Given the description of an element on the screen output the (x, y) to click on. 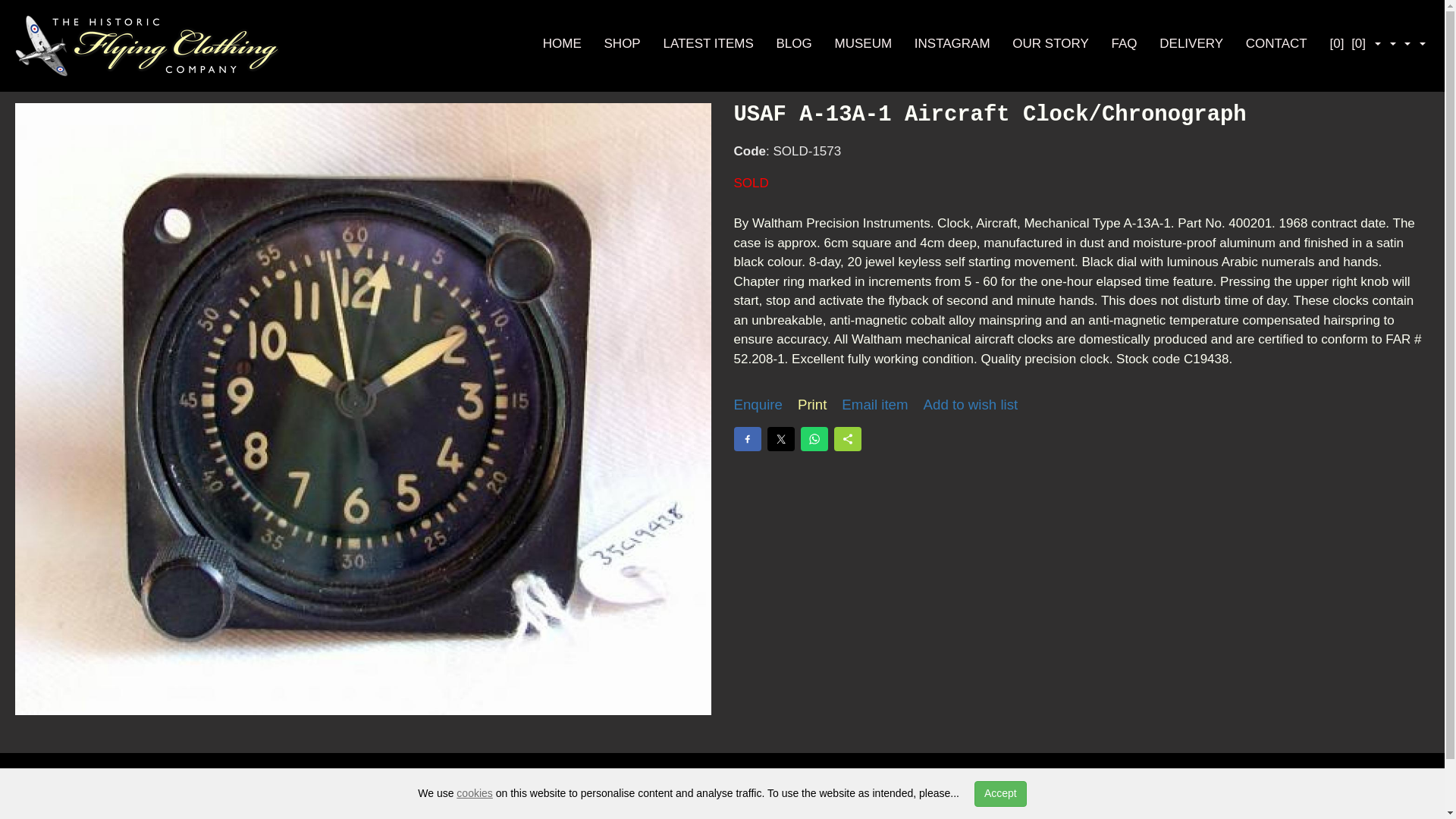
SHOP (622, 43)
Add to wish list (970, 404)
BLOG (794, 43)
HOME (561, 43)
Enquire (758, 404)
LATEST ITEMS (707, 43)
The Historic Flying Clothing Company (147, 45)
Email item (874, 404)
INSTAGRAM (952, 43)
CONTACT (1276, 43)
FAQ (1124, 43)
Print (812, 404)
DELIVERY (1190, 43)
Subscribe (1380, 791)
MUSEUM (863, 43)
